Given the description of an element on the screen output the (x, y) to click on. 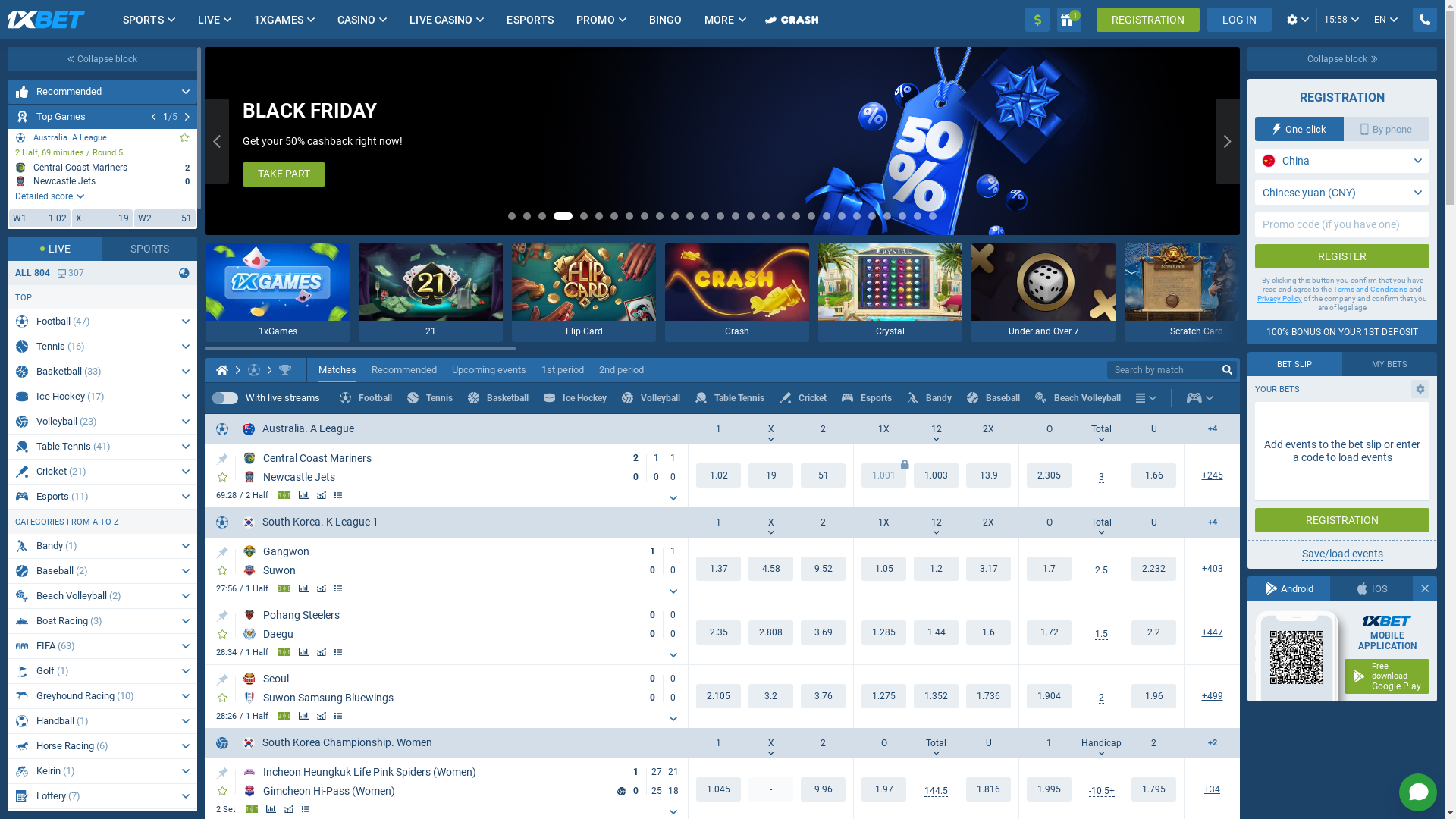
W2
51 Element type: text (164, 218)
3.2 Element type: text (770, 696)
12 Element type: text (935, 429)
1.032 Element type: text (718, 789)
Total Element type: text (1101, 429)
MORE Element type: text (719, 19)
1.62 Element type: text (988, 632)
1.904 Element type: text (1048, 696)
1.96 Element type: text (1153, 696)
+2 Element type: text (1211, 743)
X
19 Element type: text (102, 218)
Seoul
Suwon Samsung Bluewings
0
0
0
0 Element type: text (463, 688)
2.25 Element type: text (1048, 475)
444 Element type: text (1211, 632)
1.816 Element type: text (883, 789)
PROMO Element type: text (595, 19)
Total Element type: text (935, 743)
Crystal Element type: text (890, 292)
1.352 Element type: text (935, 696)
Detailed score Element type: text (49, 196)
W1
1.02 Element type: text (39, 218)
Under and Over 7 Element type: text (1043, 292)
1.97 Element type: text (988, 789)
3 Element type: text (1101, 477)
Central Coast Mariners
Newcastle Jets
2
0
1
0
1
0 Element type: text (463, 467)
1.736 Element type: text (988, 696)
+4 Element type: text (1211, 522)
1xGames Element type: text (277, 292)
Handicap Element type: text (1101, 743)
3.65 Element type: text (822, 632)
1.416 Element type: text (935, 632)
1.69 Element type: text (1153, 475)
Collapse block Element type: text (1342, 59)
4.58 Element type: text (770, 568)
1.72 Element type: text (1048, 632)
Total Element type: text (1101, 522)
ESPORTS Element type: text (529, 19)
3 Element type: text (1101, 570)
QR code for Android app Element type: hover (1295, 657)
252 Element type: text (1211, 475)
11.1 Element type: text (822, 789)
2.035 Element type: text (1048, 789)
1.288 Element type: text (883, 632)
51 Element type: text (822, 475)
1.05 Element type: text (883, 568)
Flip Card Element type: text (583, 292)
9.52 Element type: text (822, 568)
2.904 Element type: text (770, 632)
EN Element type: text (1385, 19)
LIVE CASINO Element type: text (440, 19)
403 Element type: text (1211, 568)
X Element type: text (770, 429)
19 Element type: text (770, 475)
2.2 Element type: text (1153, 632)
21 Element type: text (430, 292)
2.105 Element type: text (718, 696)
1 Element type: text (1069, 19)
REGISTRATION Element type: text (1147, 19)
Pohang Steelers
Daegu
0
0
0
0 Element type: text (463, 624)
1.37 Element type: text (718, 568)
Australia. A League Element type: text (298, 428)
1.275 Element type: text (883, 696)
+4 Element type: text (1211, 429)
SPORTS Element type: text (142, 19)
X Element type: text (770, 522)
1.2 Element type: text (935, 568)
1.5 Element type: text (1101, 634)
South Korea Championship. Women Element type: text (337, 742)
Scratch Card Element type: text (1196, 292)
1.001 Element type: text (883, 475)
Gangwon
Suwon
1
0
1
0 Element type: text (463, 560)
-11.5+ Element type: text (1101, 791)
2.16 Element type: text (1048, 568)
Collapse block Element type: text (102, 59)
13.9 Element type: text (988, 475)
500 Element type: text (1211, 696)
1XGAMES Element type: text (278, 19)
15:58 Element type: text (1341, 19)
- Element type: text (770, 789)
1.02 Element type: text (718, 475)
Australia. A League. Central Coast Mariners - Newcastle Jets Element type: hover (102, 178)
3.76 Element type: text (822, 696)
LIVE Element type: text (208, 19)
LOG IN Element type: text (1239, 19)
South Korea. K League 1 Element type: text (310, 521)
1.696 Element type: text (1153, 568)
3.17 Element type: text (988, 568)
1.765 Element type: text (1153, 789)
2.3 Element type: text (718, 632)
Crash Element type: text (736, 292)
X Element type: text (770, 743)
CASINO Element type: text (356, 19)
12 Element type: text (935, 522)
142.5 Element type: text (935, 791)
BINGO Element type: text (665, 19)
2 Element type: text (1101, 697)
1.003 Element type: text (935, 475)
